Given the description of an element on the screen output the (x, y) to click on. 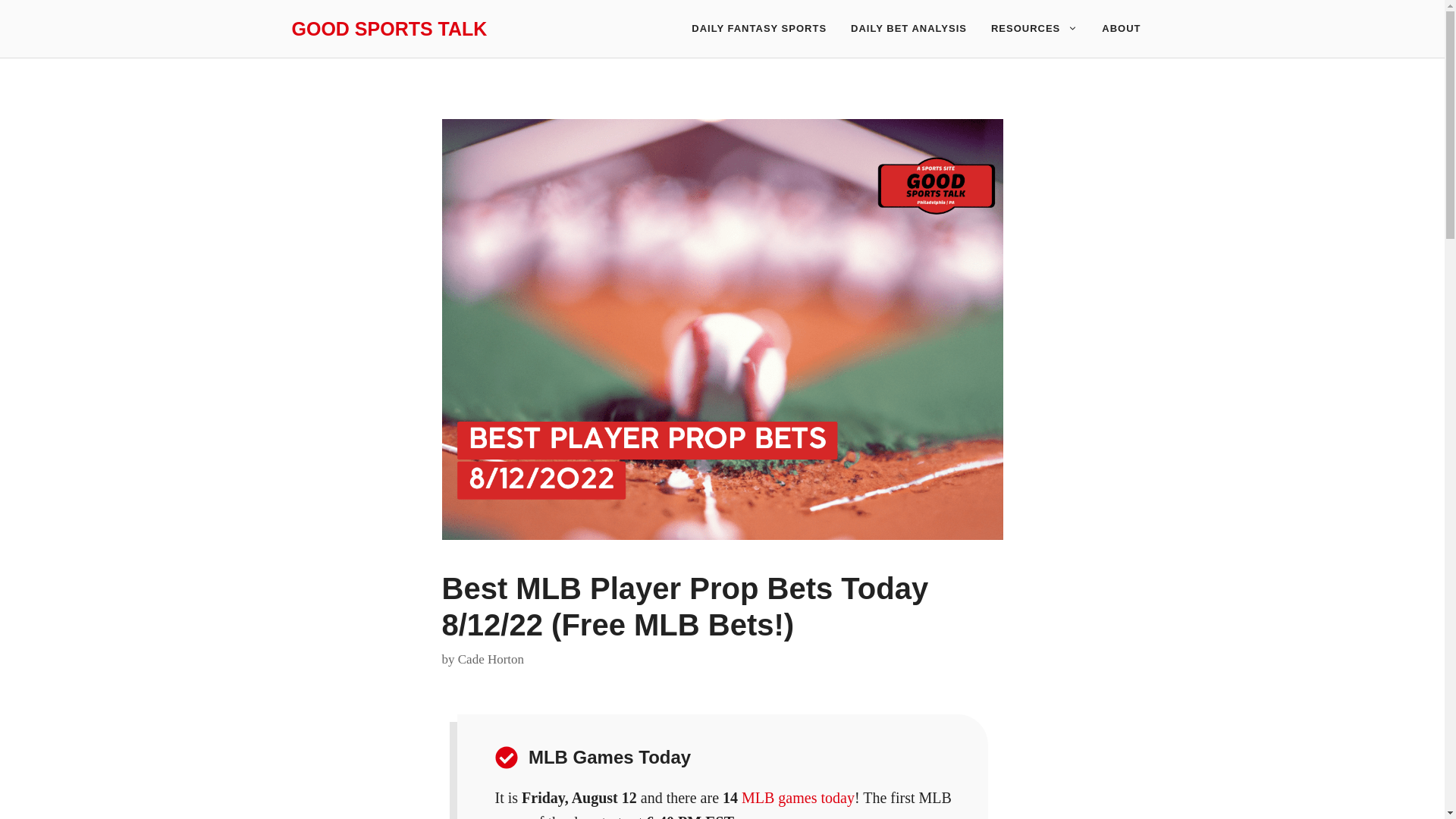
MLB games today (797, 797)
RESOURCES (1033, 28)
DAILY FANTASY SPORTS (758, 28)
ABOUT (1121, 28)
GOOD SPORTS TALK (388, 28)
DAILY BET ANALYSIS (908, 28)
View all posts by Cade Horton (491, 658)
Cade Horton (491, 658)
